Given the description of an element on the screen output the (x, y) to click on. 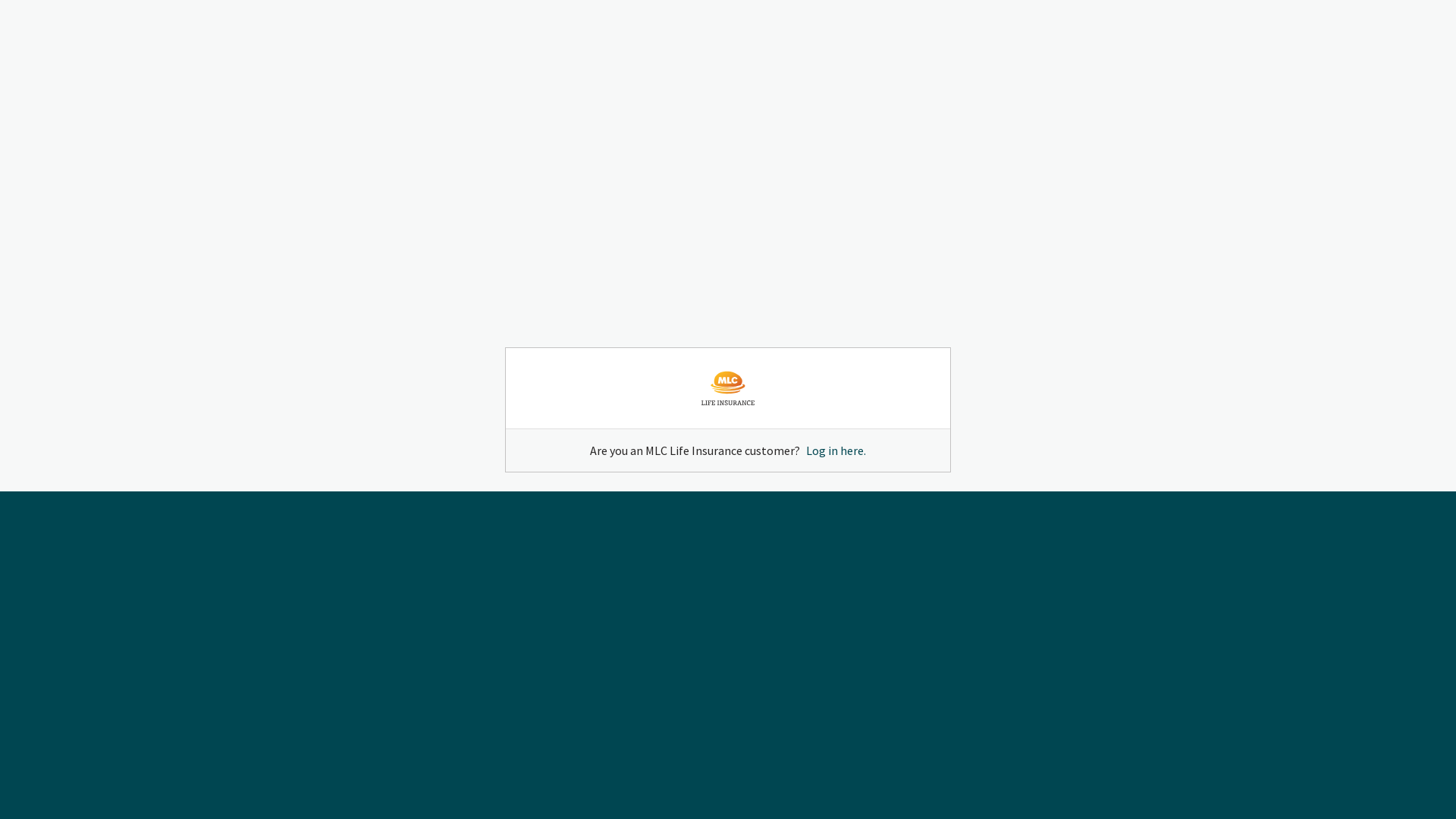
Log in here. Element type: text (836, 450)
